Given the description of an element on the screen output the (x, y) to click on. 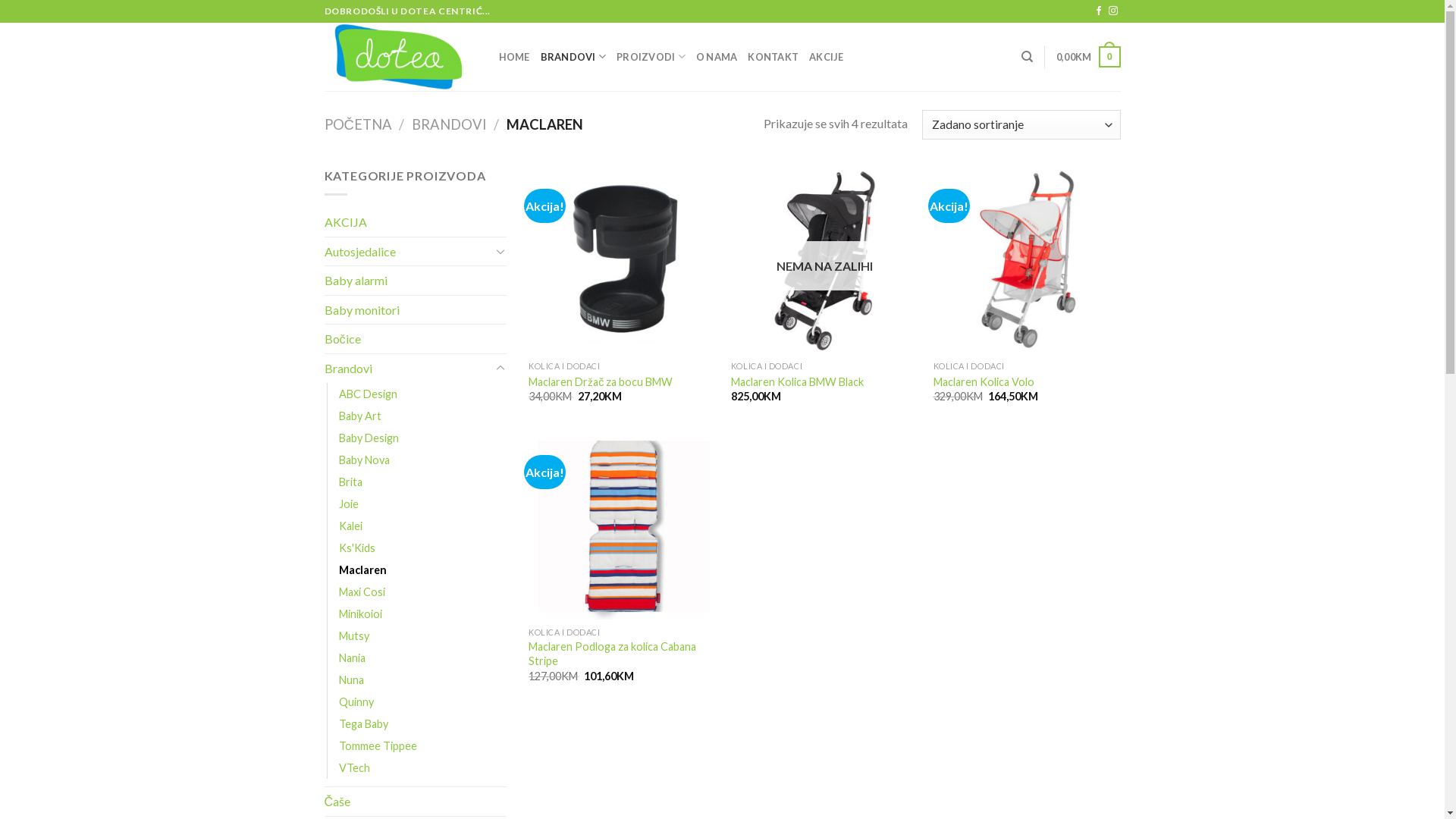
ABC Design Element type: text (367, 393)
Maclaren Podloga za kolica Cabana Stripe Element type: text (621, 654)
AKCIJE Element type: text (826, 56)
Tommee Tippee Element type: text (377, 745)
Follow on Instagram Element type: hover (1112, 11)
O NAMA Element type: text (716, 56)
Kalei Element type: text (349, 525)
Nania Element type: text (351, 657)
AKCIJA Element type: text (415, 221)
VTech Element type: text (353, 767)
Autosjedalice Element type: text (407, 251)
HOME Element type: text (514, 56)
Mutsy Element type: text (353, 635)
Maclaren Element type: text (361, 569)
BRANDOVI Element type: text (448, 124)
BRANDOVI Element type: text (573, 56)
Baby Art Element type: text (359, 415)
Brandovi Element type: text (407, 368)
KONTAKT Element type: text (772, 56)
Baby monitori Element type: text (415, 309)
Maxi Cosi Element type: text (361, 591)
0,00KM
0 Element type: text (1088, 56)
Baby alarmi Element type: text (415, 280)
Brita Element type: text (349, 481)
PROIZVODI Element type: text (650, 56)
Follow on Facebook Element type: hover (1098, 11)
Maclaren Kolica Volo Element type: text (983, 382)
Baby Nova Element type: text (363, 459)
Minikoioi Element type: text (359, 613)
Maclaren Kolica BMW Black Element type: text (797, 382)
Quinny Element type: text (355, 701)
Tega Baby Element type: text (362, 723)
Nuna Element type: text (350, 679)
Ks'Kids Element type: text (356, 547)
Baby Design Element type: text (368, 437)
Joie Element type: text (347, 503)
